Given the description of an element on the screen output the (x, y) to click on. 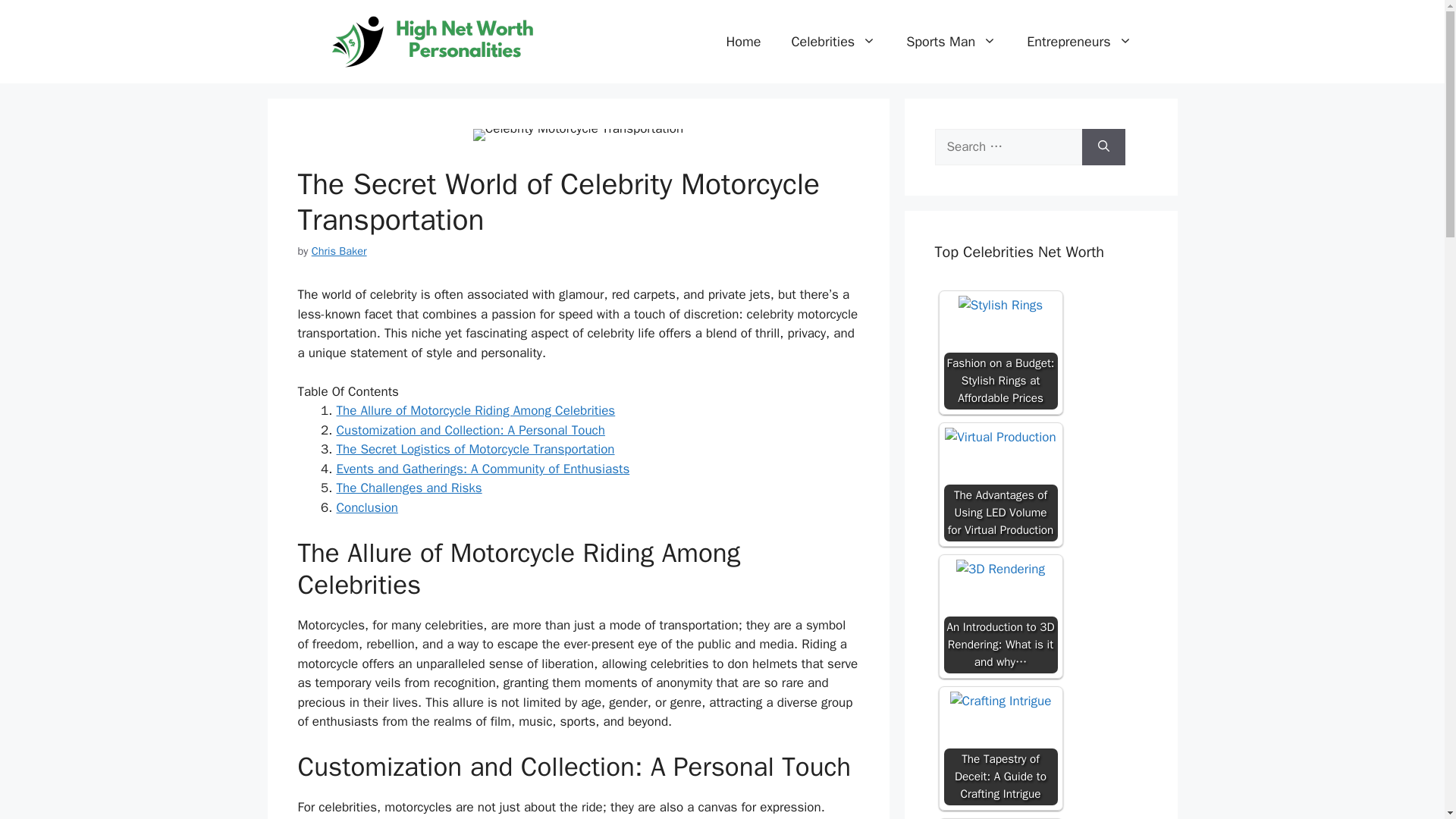
Events and Gatherings: A Community of Enthusiasts (483, 468)
Conclusion (366, 507)
Home (743, 41)
The Challenges and Risks (408, 487)
Celebrities (833, 41)
Entrepreneurs (1079, 41)
Chris Baker (338, 250)
Celebrity Motorcycle Transportation (577, 134)
Customization and Collection: A Personal Touch (470, 430)
The Allure of Motorcycle Riding Among Celebrities (475, 410)
Sports Man (951, 41)
The Secret Logistics of Motorcycle Transportation (475, 449)
View all posts by Chris Baker (338, 250)
